Given the description of an element on the screen output the (x, y) to click on. 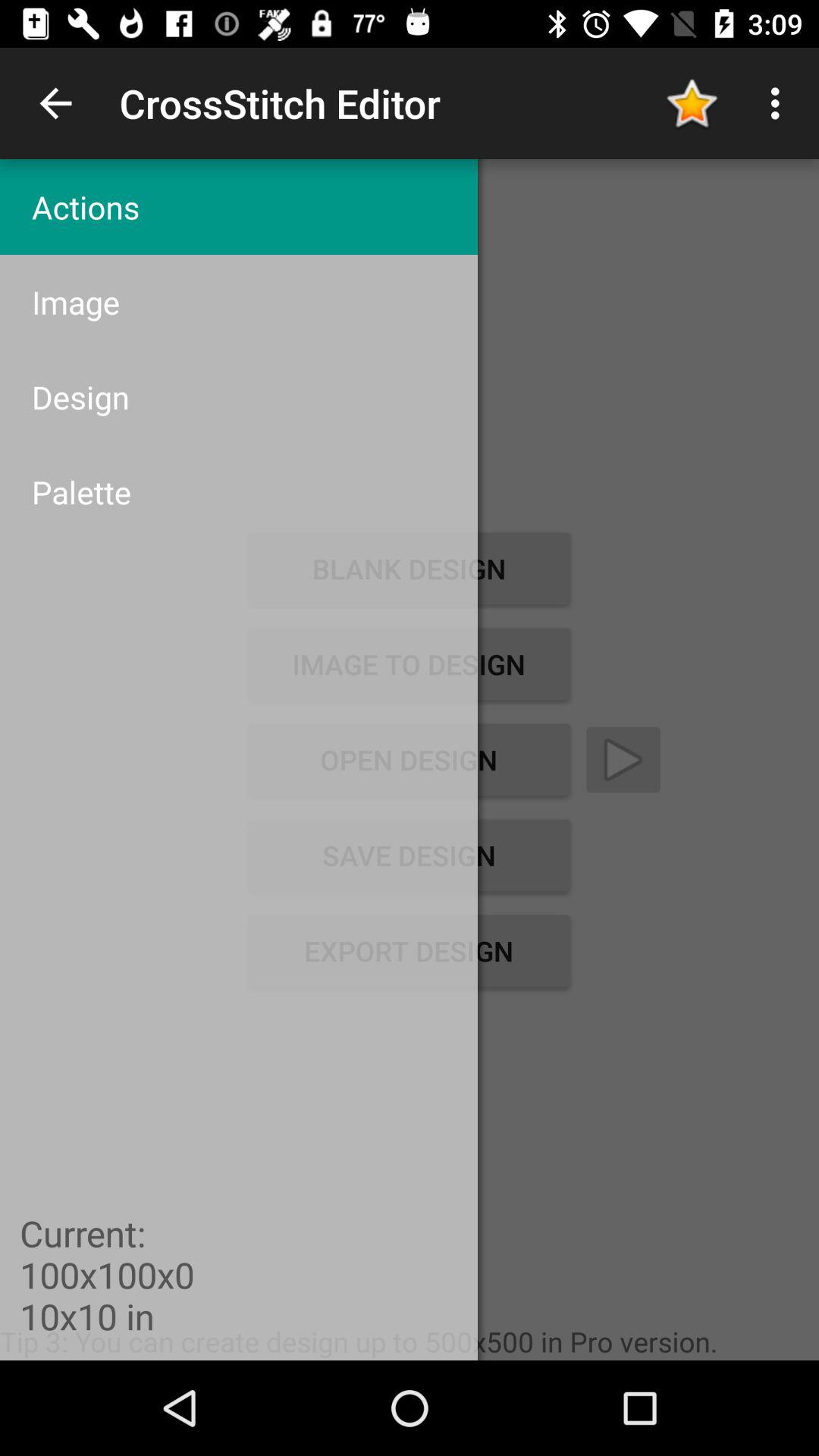
turn on icon above the actions item (55, 103)
